Given the description of an element on the screen output the (x, y) to click on. 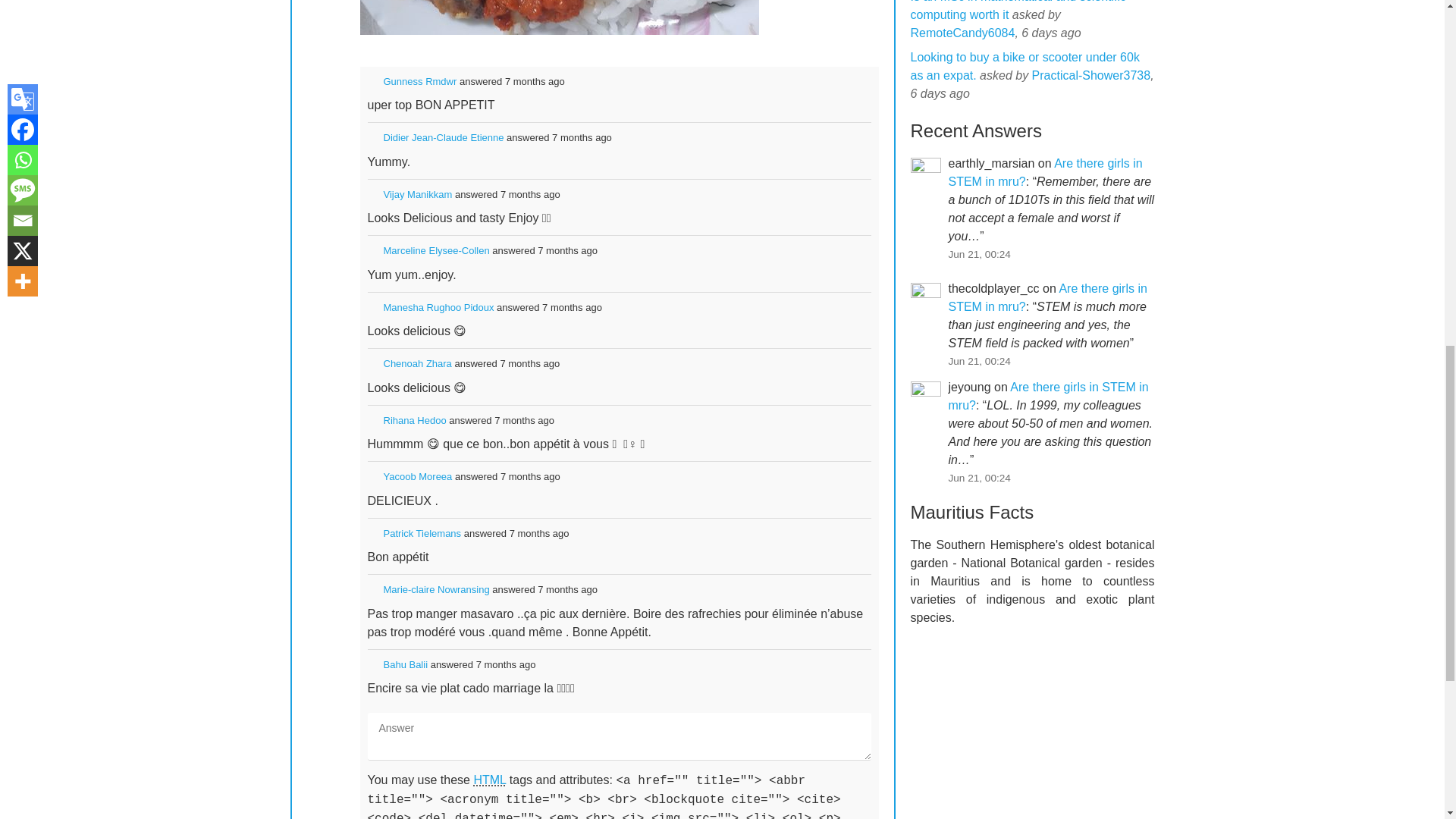
HyperText Markup Language (489, 779)
